Given the description of an element on the screen output the (x, y) to click on. 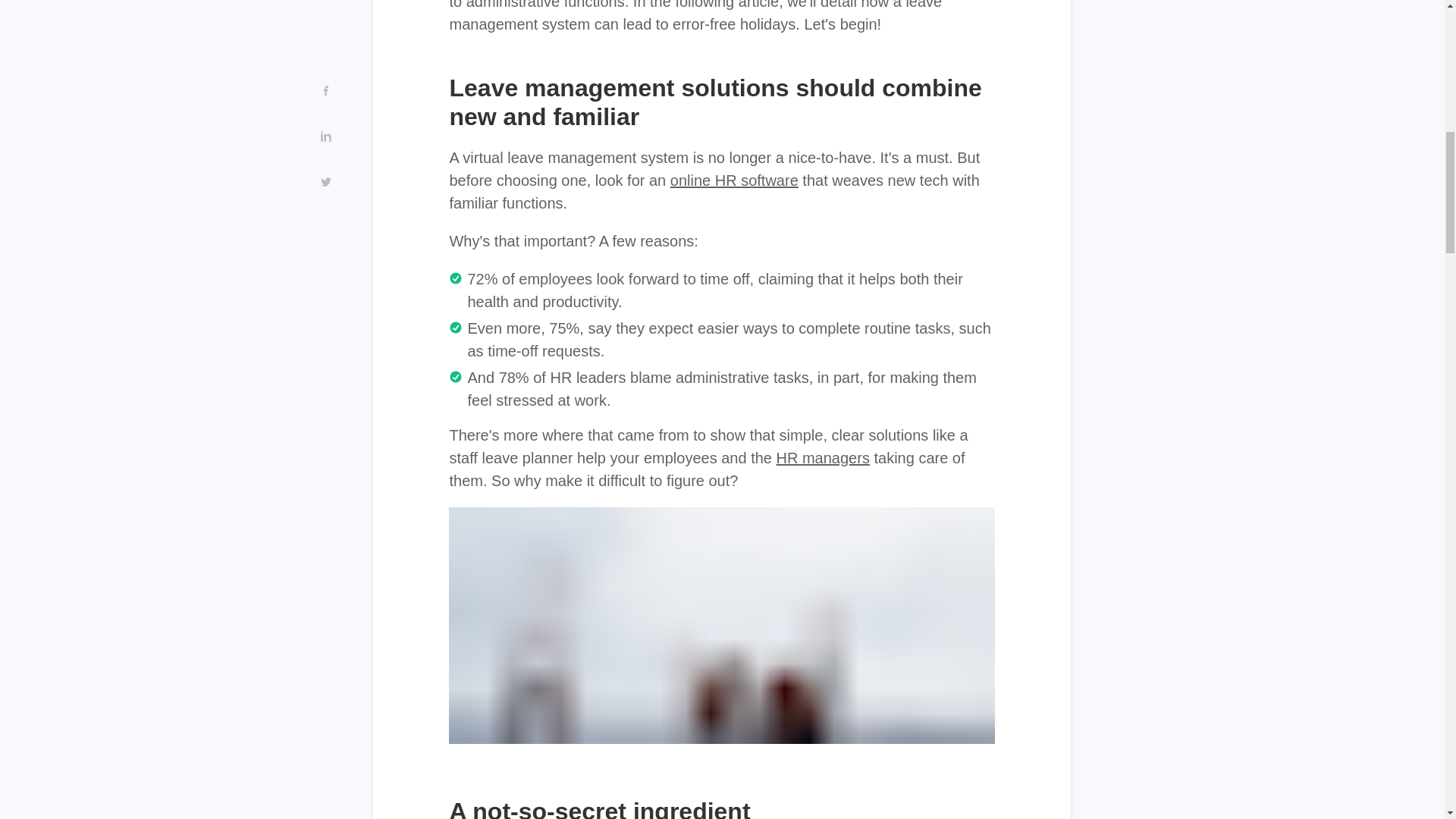
online HR software (733, 180)
HR managers (822, 457)
